Given the description of an element on the screen output the (x, y) to click on. 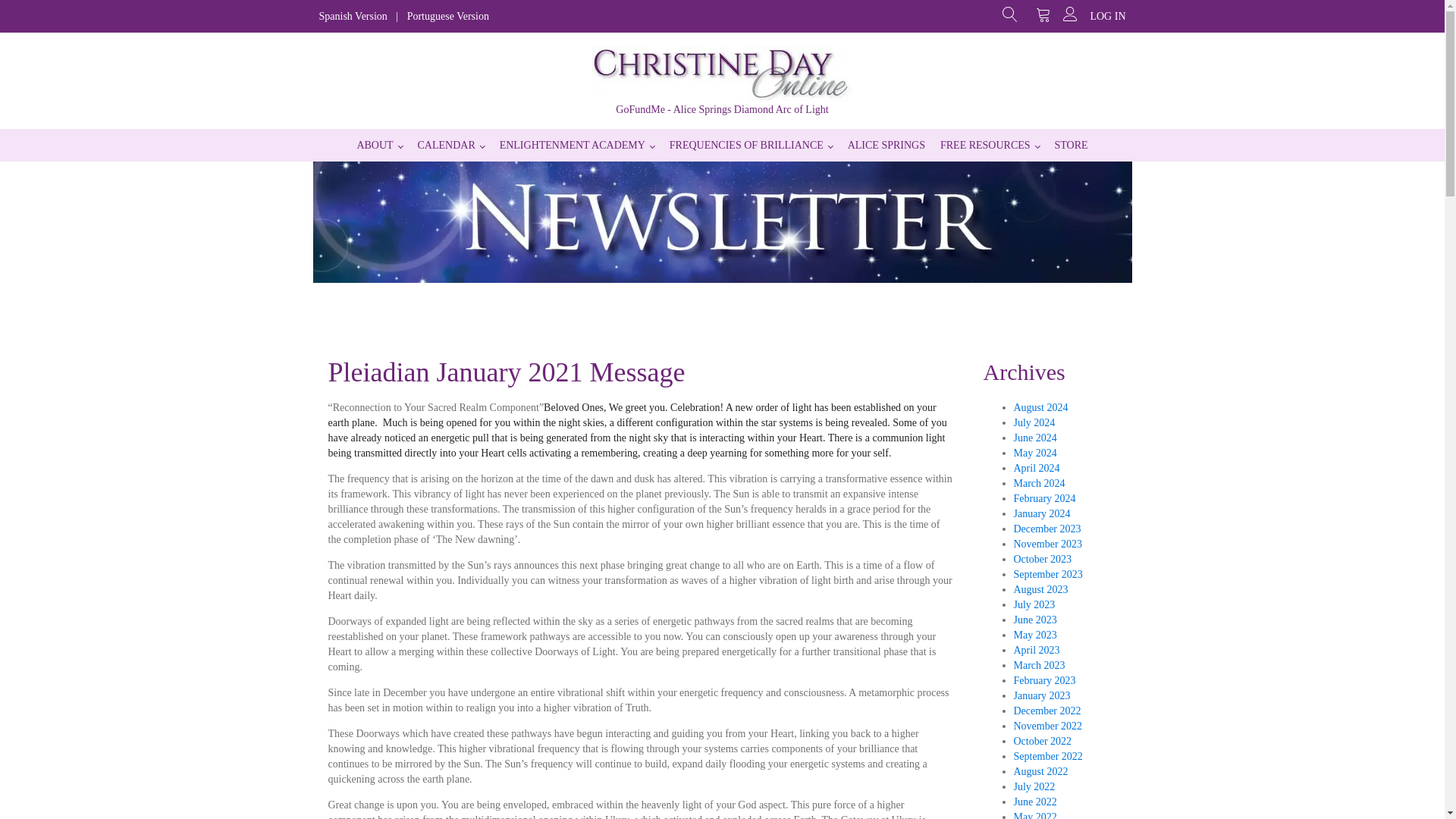
GoFundMe - Alice Springs Diamond Arc of Light (721, 109)
Portuguese Version (448, 16)
ENLIGHTENMENT ACADEMY (577, 144)
LOG IN (1107, 16)
Spanish Version (352, 16)
CALENDAR (451, 144)
FREQUENCIES OF BRILLIANCE (751, 144)
ALICE SPRINGS (886, 144)
ABOUT (379, 144)
FREE RESOURCES (989, 144)
